Given the description of an element on the screen output the (x, y) to click on. 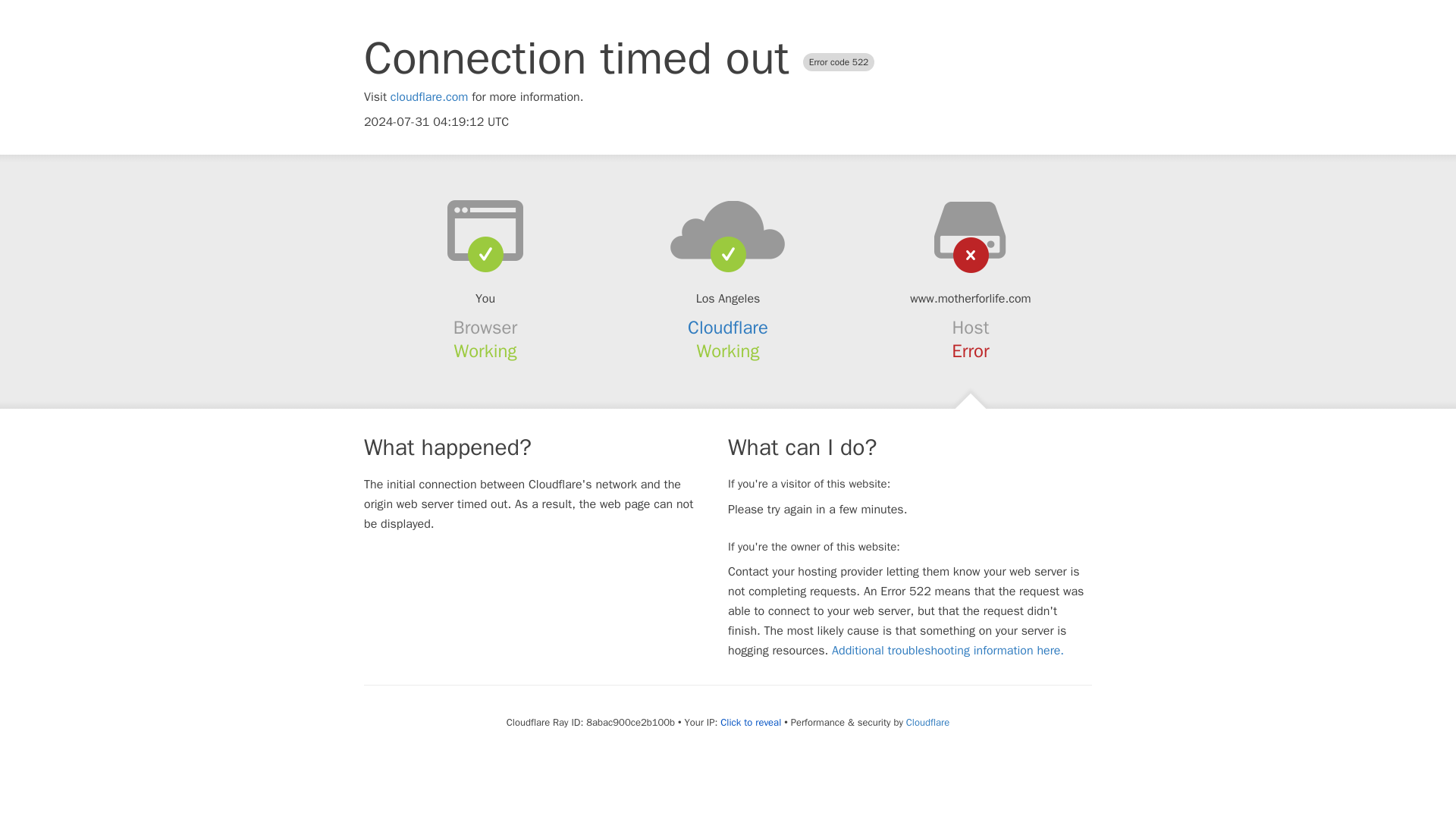
Cloudflare (727, 327)
cloudflare.com (429, 96)
Click to reveal (750, 722)
Cloudflare (927, 721)
Additional troubleshooting information here. (947, 650)
